Given the description of an element on the screen output the (x, y) to click on. 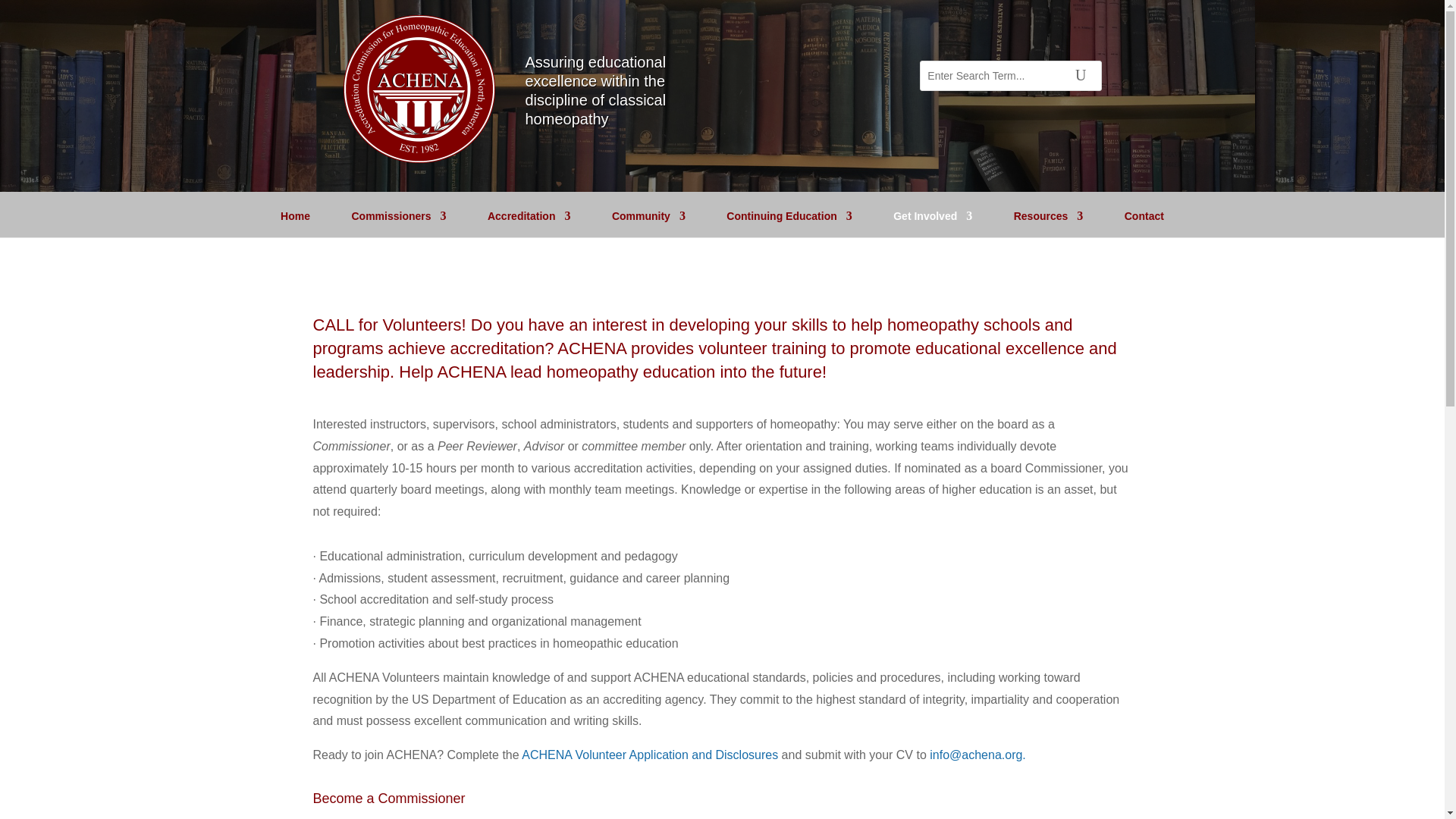
Continuing Education (788, 223)
Accreditation (528, 223)
Get Involved (932, 223)
Commissioners (397, 223)
Search (1080, 75)
Search (1080, 75)
Search (1080, 75)
Home (295, 223)
Resources (1048, 223)
Community (648, 223)
